Given the description of an element on the screen output the (x, y) to click on. 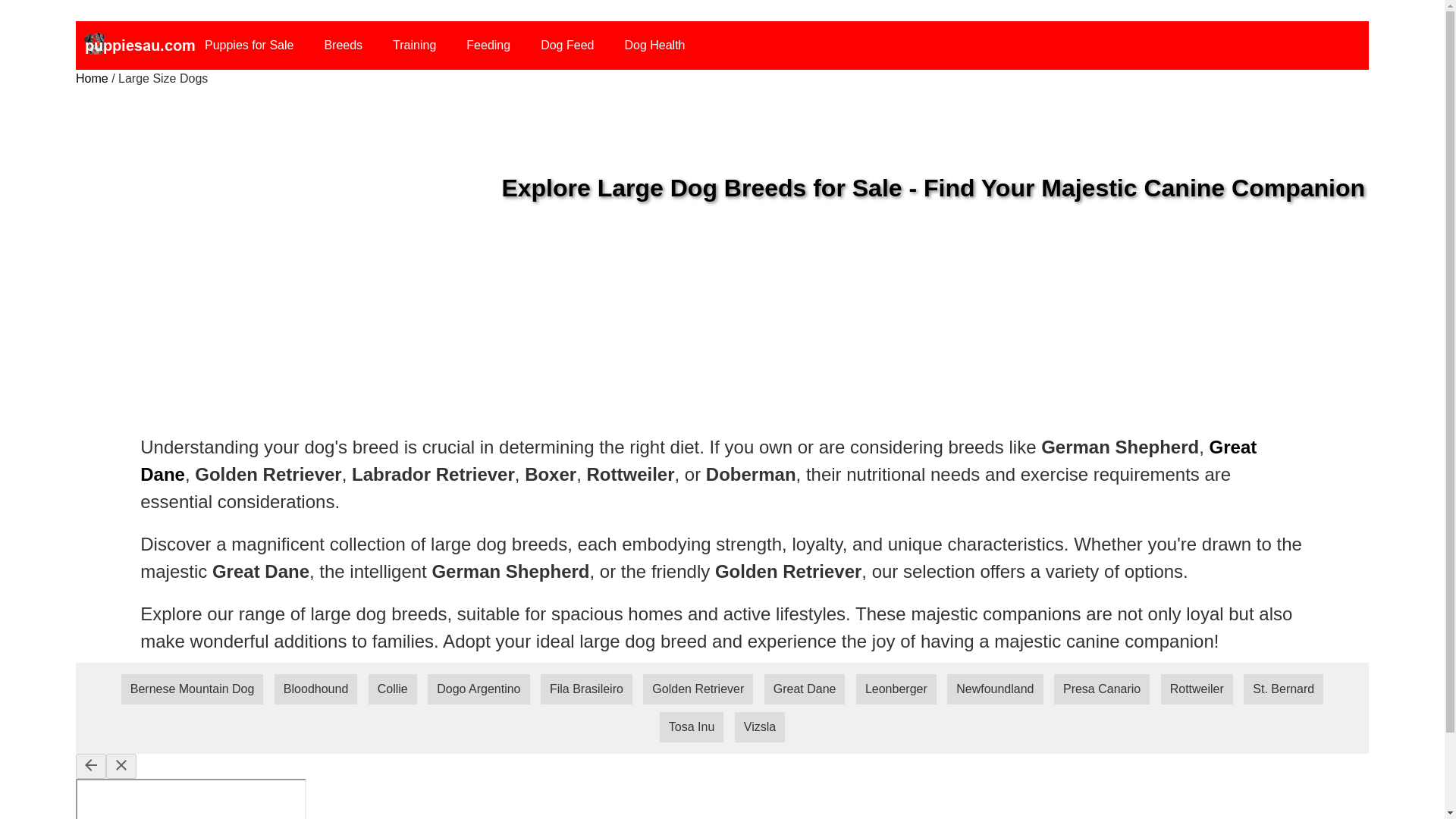
Breeds (342, 45)
Training (414, 45)
Dog Feed (566, 45)
Collie (392, 689)
Bloodhound (315, 689)
Feeding (488, 45)
Dog Health (654, 45)
Bernese Mountain Dog (191, 689)
Great Dane (697, 460)
Training Dogs (414, 45)
